Given the description of an element on the screen output the (x, y) to click on. 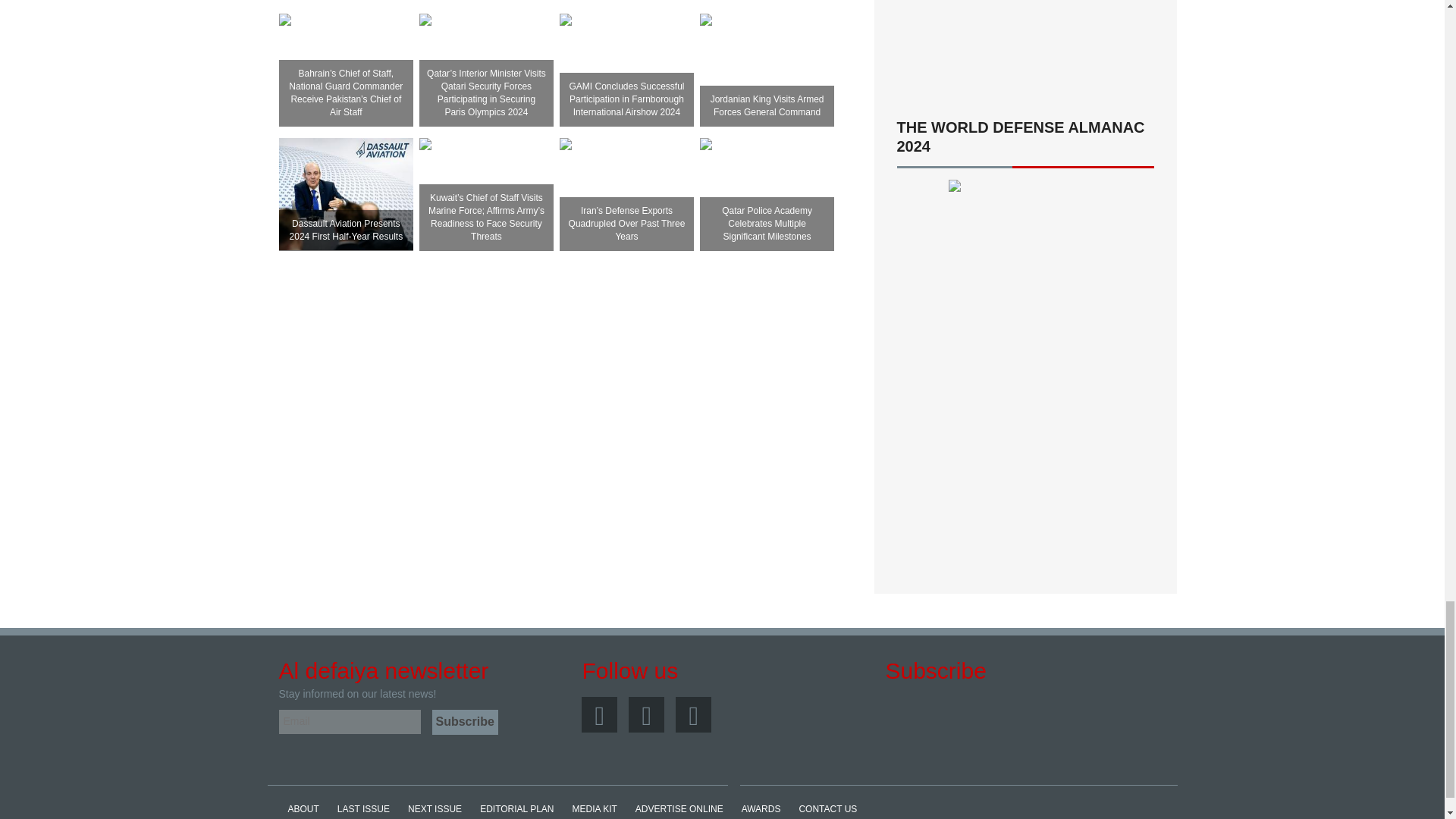
Dassault Aviation Presents 2024 First Half-Year Results (346, 194)
Jordanian King Visits Armed Forces General Command (767, 39)
Subscribe (464, 722)
